Given the description of an element on the screen output the (x, y) to click on. 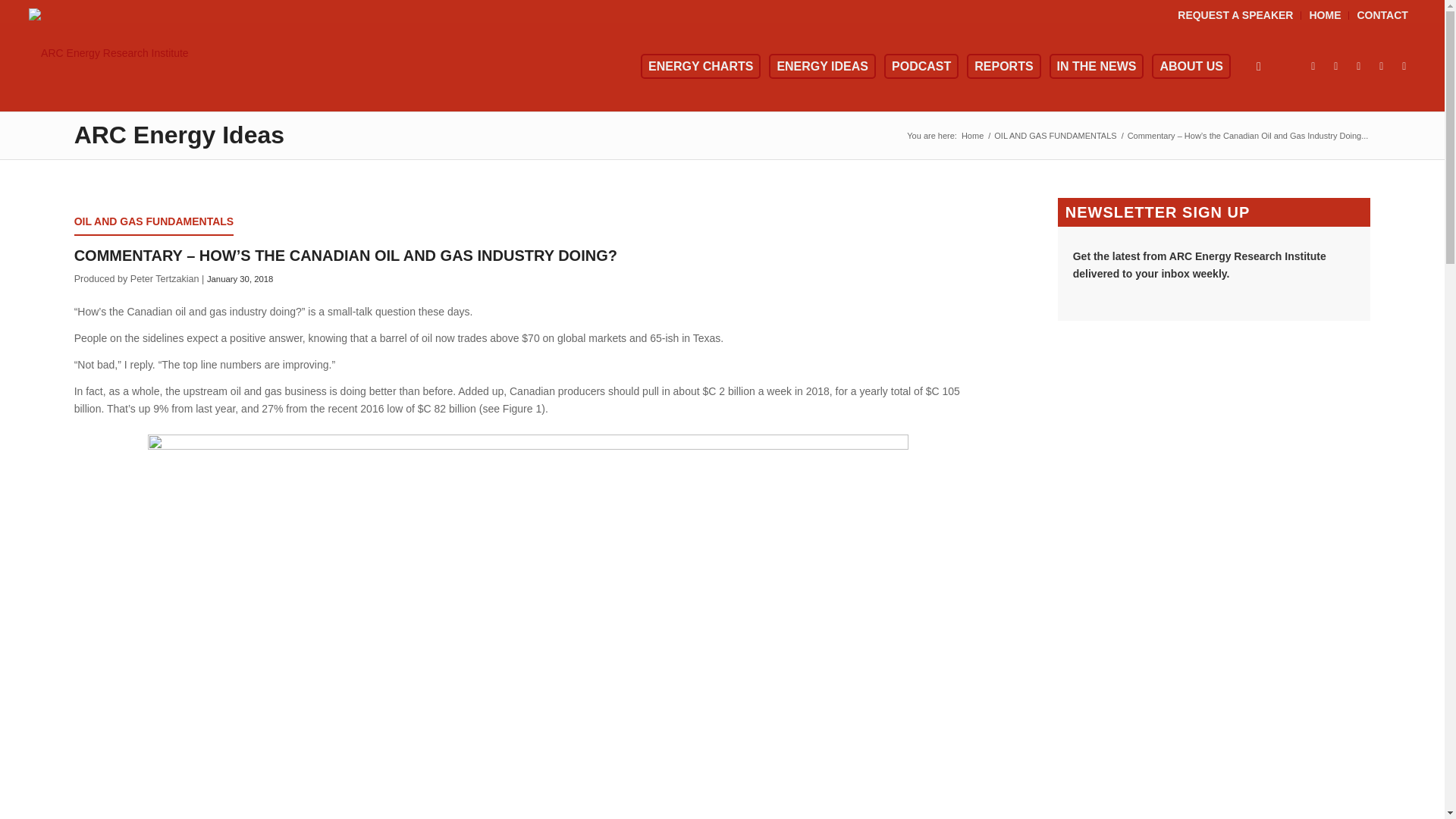
Instagram (1359, 65)
ARC Energy Ideas (178, 132)
Facebook (1336, 65)
Youtube (1404, 65)
REQUEST A SPEAKER (1234, 15)
ARC Energy Research Institute (972, 135)
OIL AND GAS FUNDAMENTALS (1054, 135)
PODCAST (928, 66)
Home (972, 135)
ABOUT US (1198, 66)
